Given the description of an element on the screen output the (x, y) to click on. 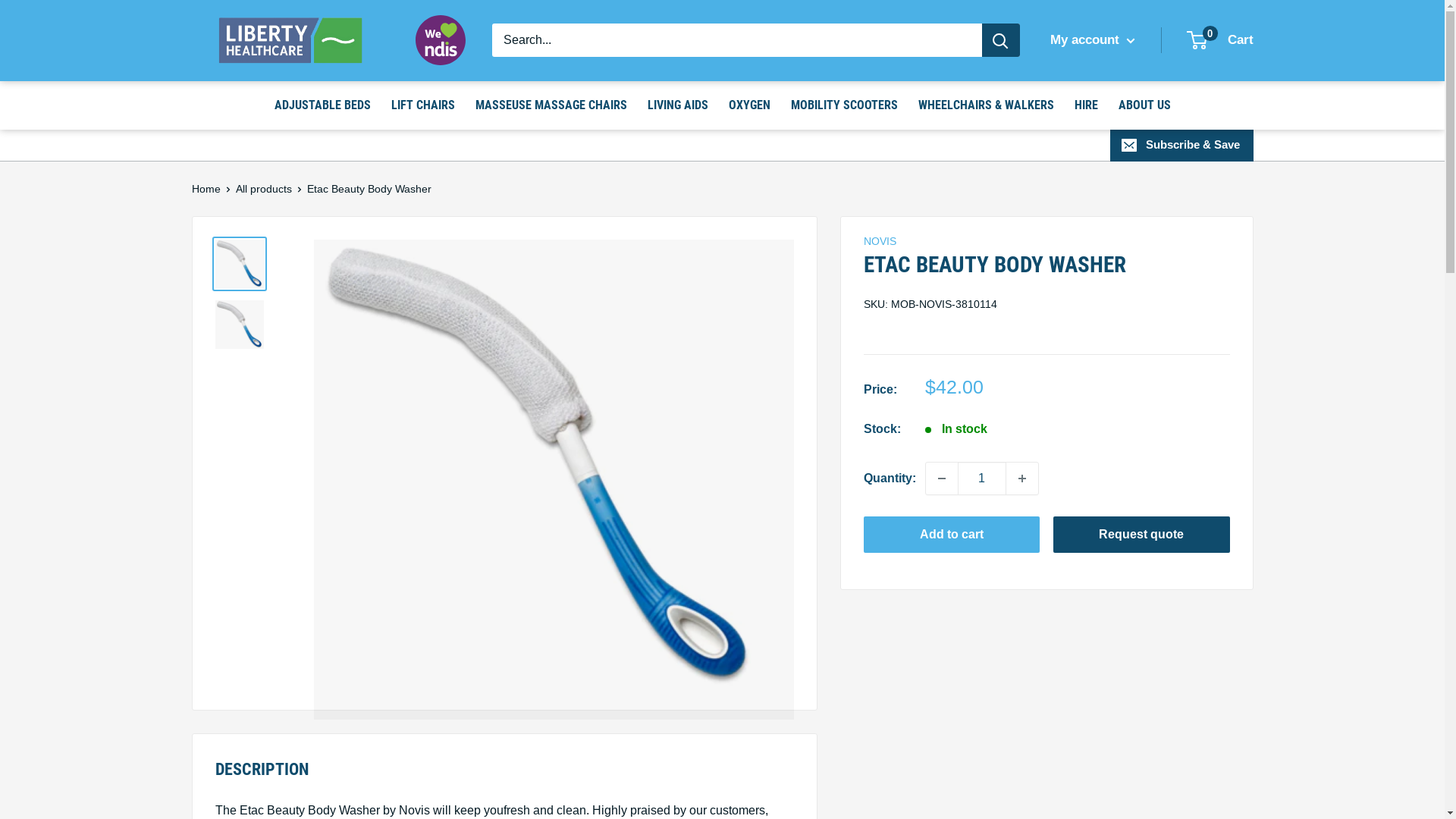
MASSEUSE MASSAGE CHAIRS Element type: text (550, 105)
LIFT CHAIRS Element type: text (423, 105)
0
Cart Element type: text (1219, 40)
ADJUSTABLE BEDS Element type: text (322, 105)
LIVING AIDS Element type: text (677, 105)
WHEELCHAIRS & WALKERS Element type: text (985, 105)
OXYGEN Element type: text (748, 105)
ABOUT US Element type: text (1143, 105)
Decrease quantity by 1 Element type: hover (941, 478)
Request quote Element type: text (1141, 534)
HIRE Element type: text (1085, 105)
Add to cart Element type: text (950, 534)
Increase quantity by 1 Element type: hover (1021, 478)
Home Element type: text (205, 188)
NOVIS Element type: text (878, 241)
My account Element type: text (1091, 40)
Registered NDIS Provider Element type: hover (440, 40)
MOBILITY SCOOTERS Element type: text (843, 105)
All products Element type: text (263, 188)
Subscribe & Save Element type: text (1181, 144)
